Given the description of an element on the screen output the (x, y) to click on. 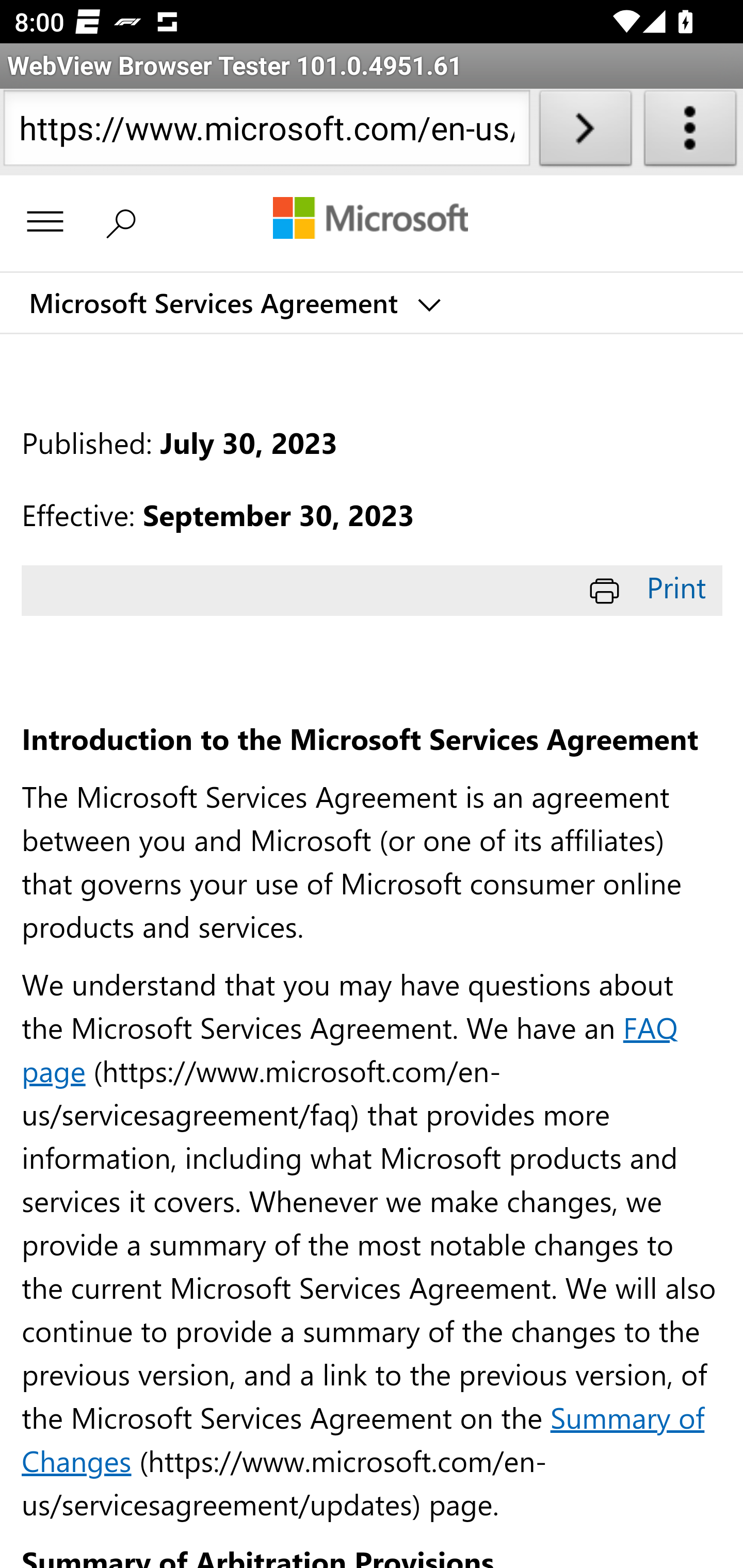
https://www.microsoft.com/en-us/servicesagreement (266, 132)
Load URL (585, 132)
About WebView (690, 132)
Microsoft (370, 219)
Search Microsoft.com (124, 219)
Microsoft Services Agreement (233, 302)
Print (651, 586)
FAQ page (350, 1047)
Summary of Changes (363, 1438)
